Given the description of an element on the screen output the (x, y) to click on. 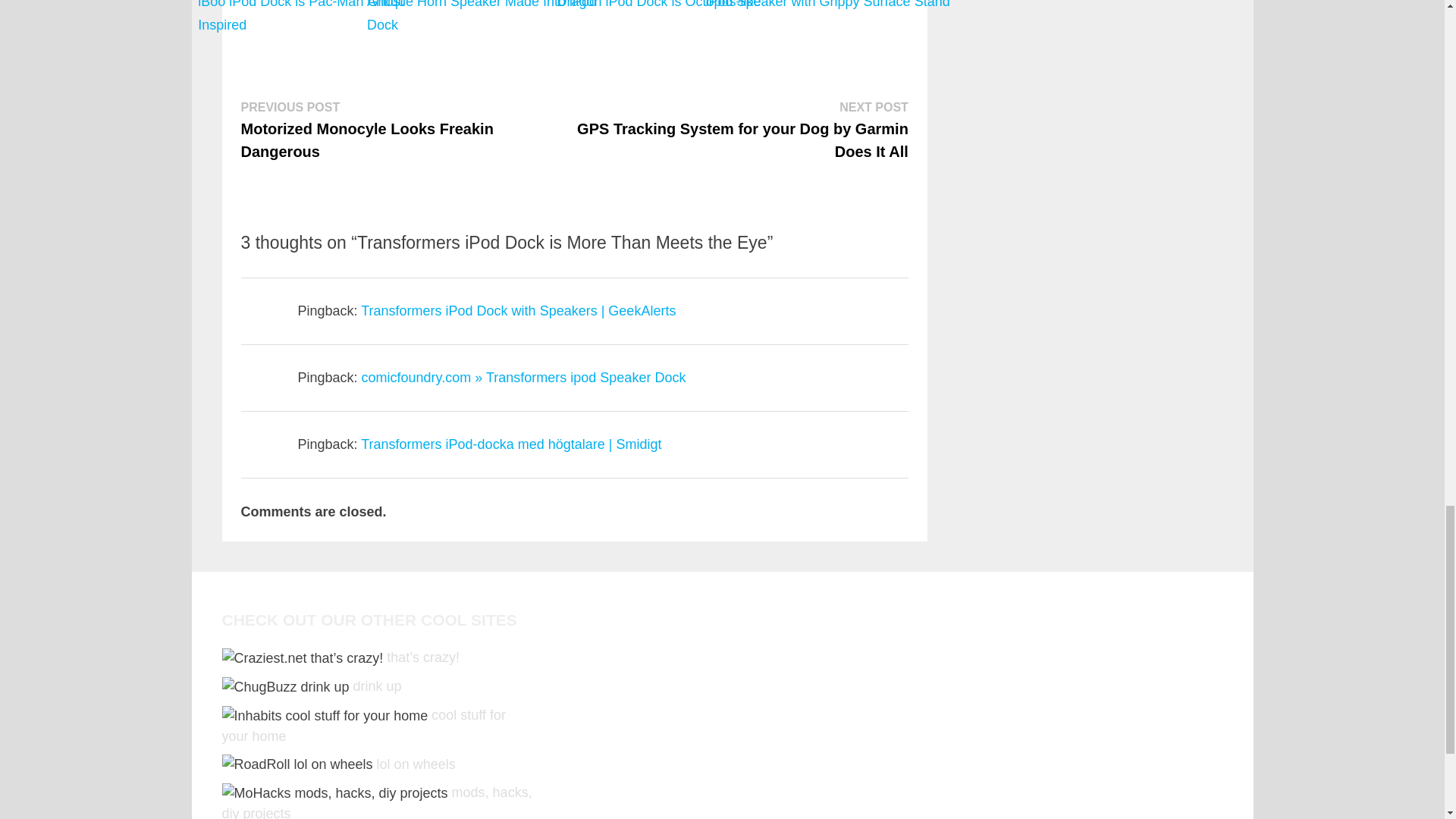
iBoo iPod Dock is Pac-Man Ghost Inspired (320, 19)
iPod Speaker with Grippy Surface Stand (827, 19)
Dragon iPod Dock is Octopus-like (658, 19)
Antique Horn Speaker Made Into iPod Dock (490, 19)
